Given the description of an element on the screen output the (x, y) to click on. 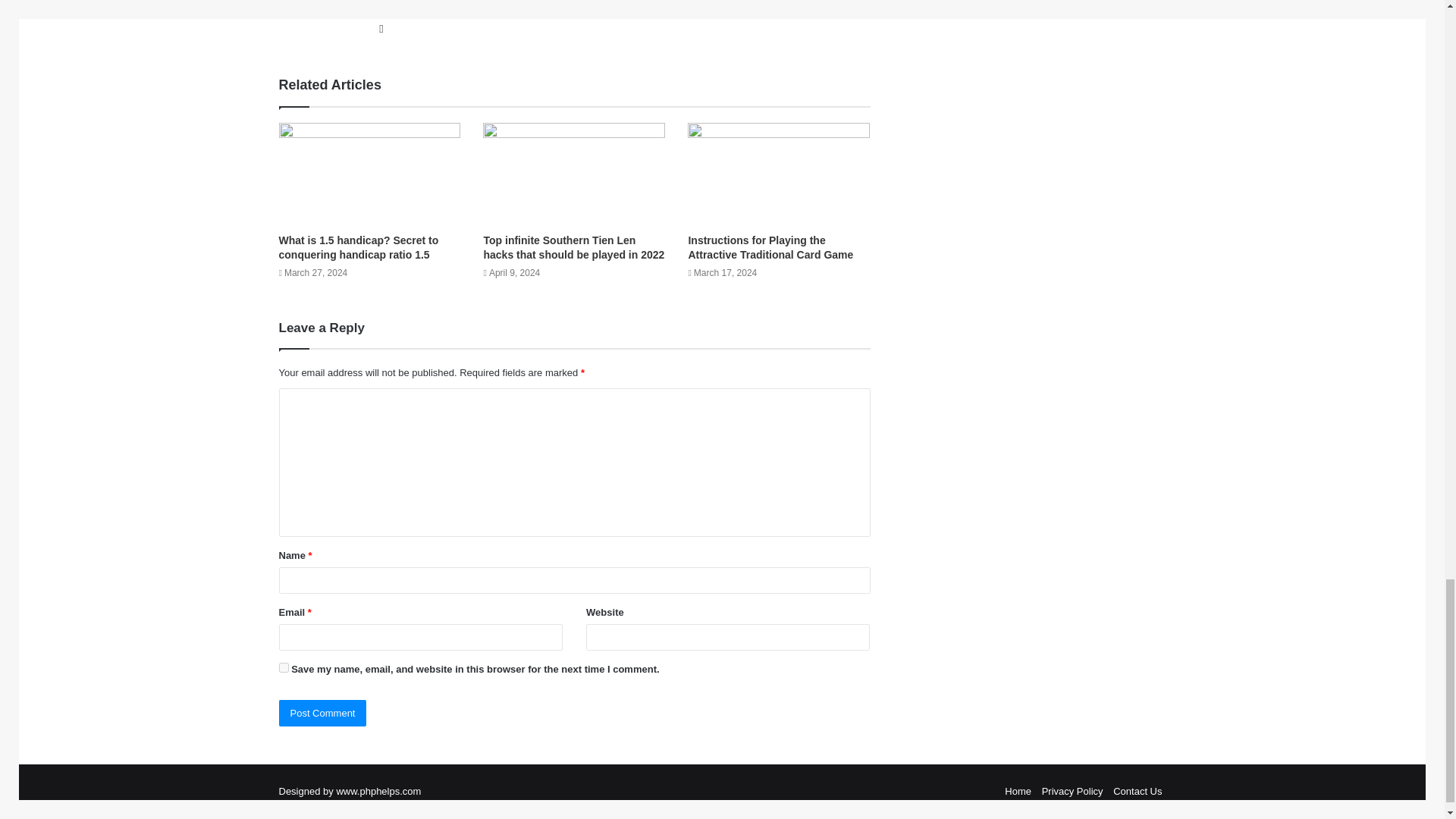
Post Comment (322, 713)
Website (381, 28)
yes (283, 667)
admin (392, 4)
